Given the description of an element on the screen output the (x, y) to click on. 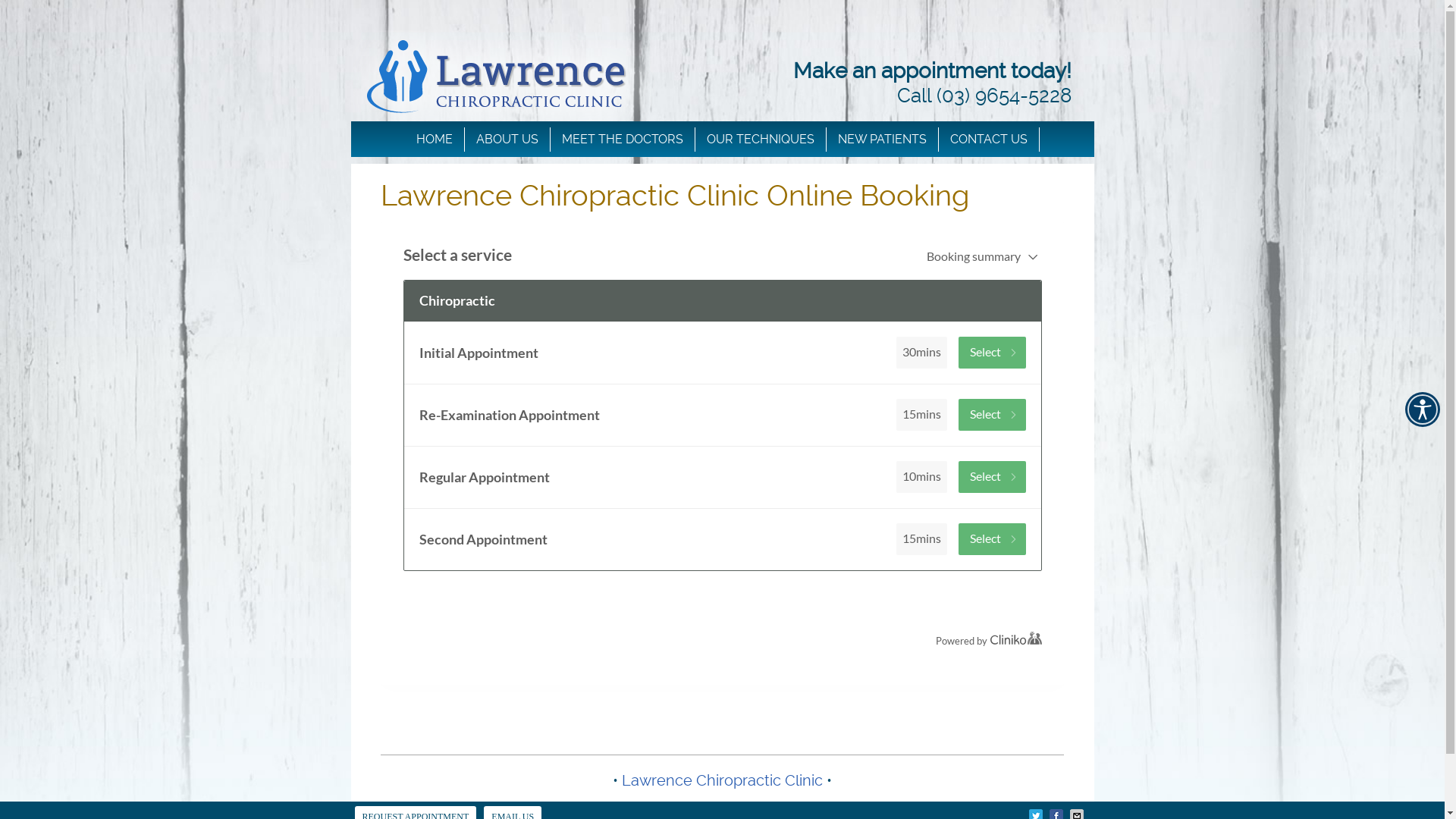
NEW PATIENTS Element type: text (882, 139)
OUR TECHNIQUES Element type: text (760, 139)
Make an appointment today! Element type: text (932, 70)
Welcome to Lawrence Chiropractic Clinic Element type: hover (496, 147)
ABOUT US Element type: text (507, 139)
MEET THE DOCTORS Element type: text (622, 139)
Lawrence Chiropractic Clinic Element type: text (721, 780)
CONTACT US Element type: text (988, 139)
HOME Element type: text (434, 139)
